Given the description of an element on the screen output the (x, y) to click on. 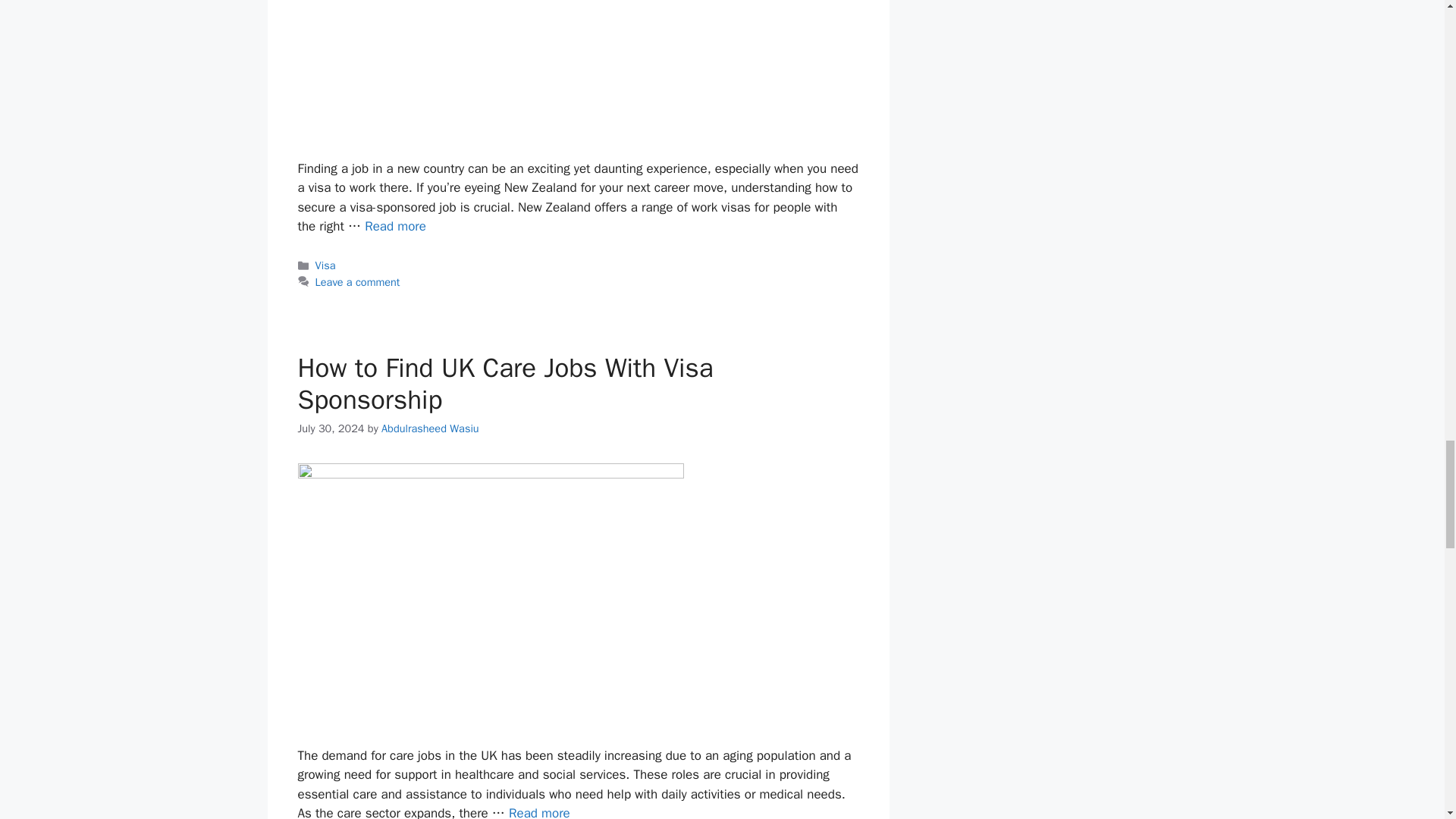
How to Find UK Care Jobs With Visa Sponsorship (539, 812)
How to Find Visa Sponsored Jobs in New Zealand (395, 226)
View all posts by Abdulrasheed Wasiu (430, 427)
